Given the description of an element on the screen output the (x, y) to click on. 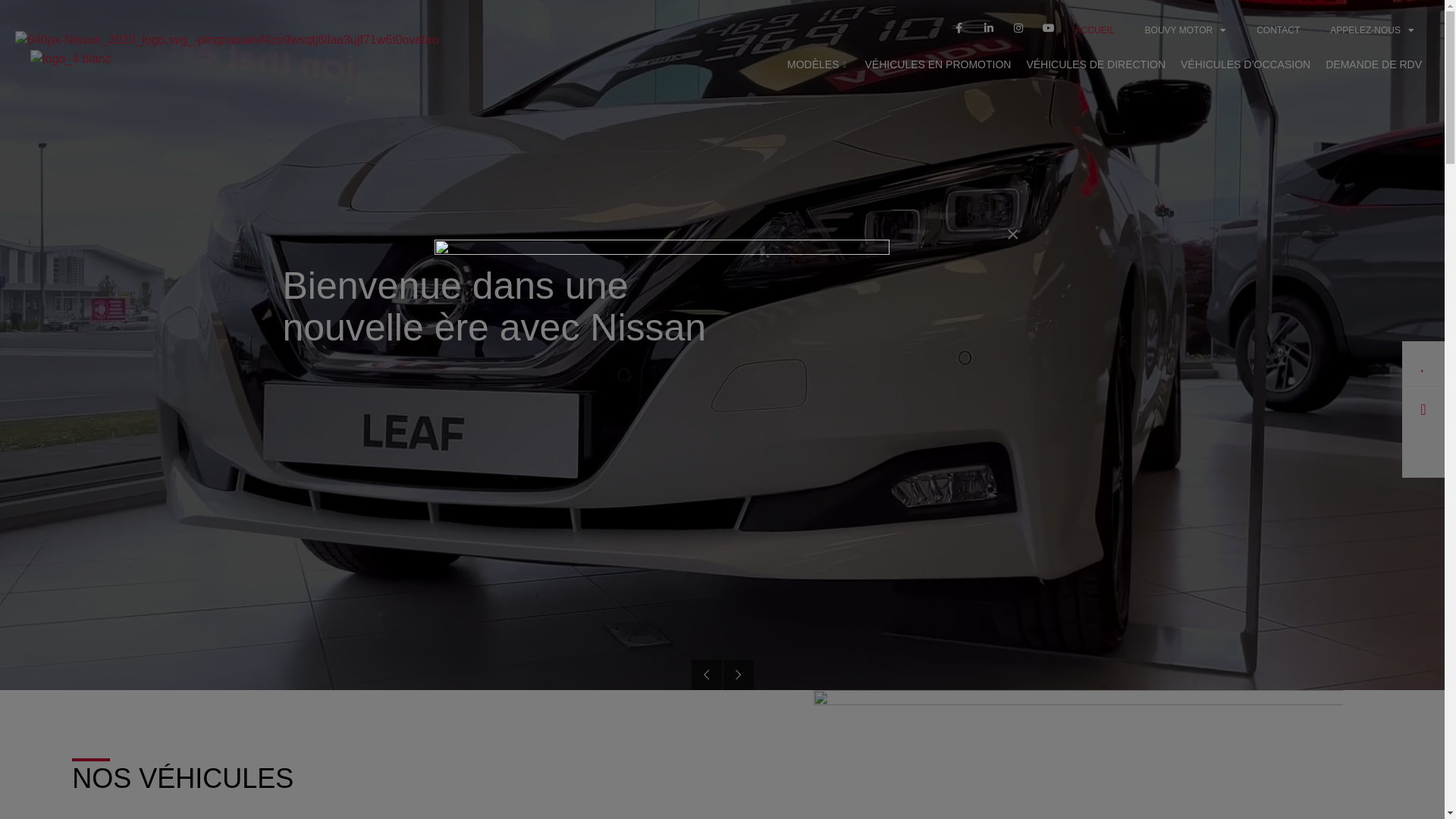
DEMANDE DE RDV Element type: text (1373, 64)
ACCUEIL Element type: text (1094, 29)
BOUVY MOTOR Element type: text (1185, 29)
APPELEZ-NOUS Element type: text (1371, 29)
logo_4 blanc Element type: hover (70, 59)
CONTACT Element type: text (1277, 29)
